Given the description of an element on the screen output the (x, y) to click on. 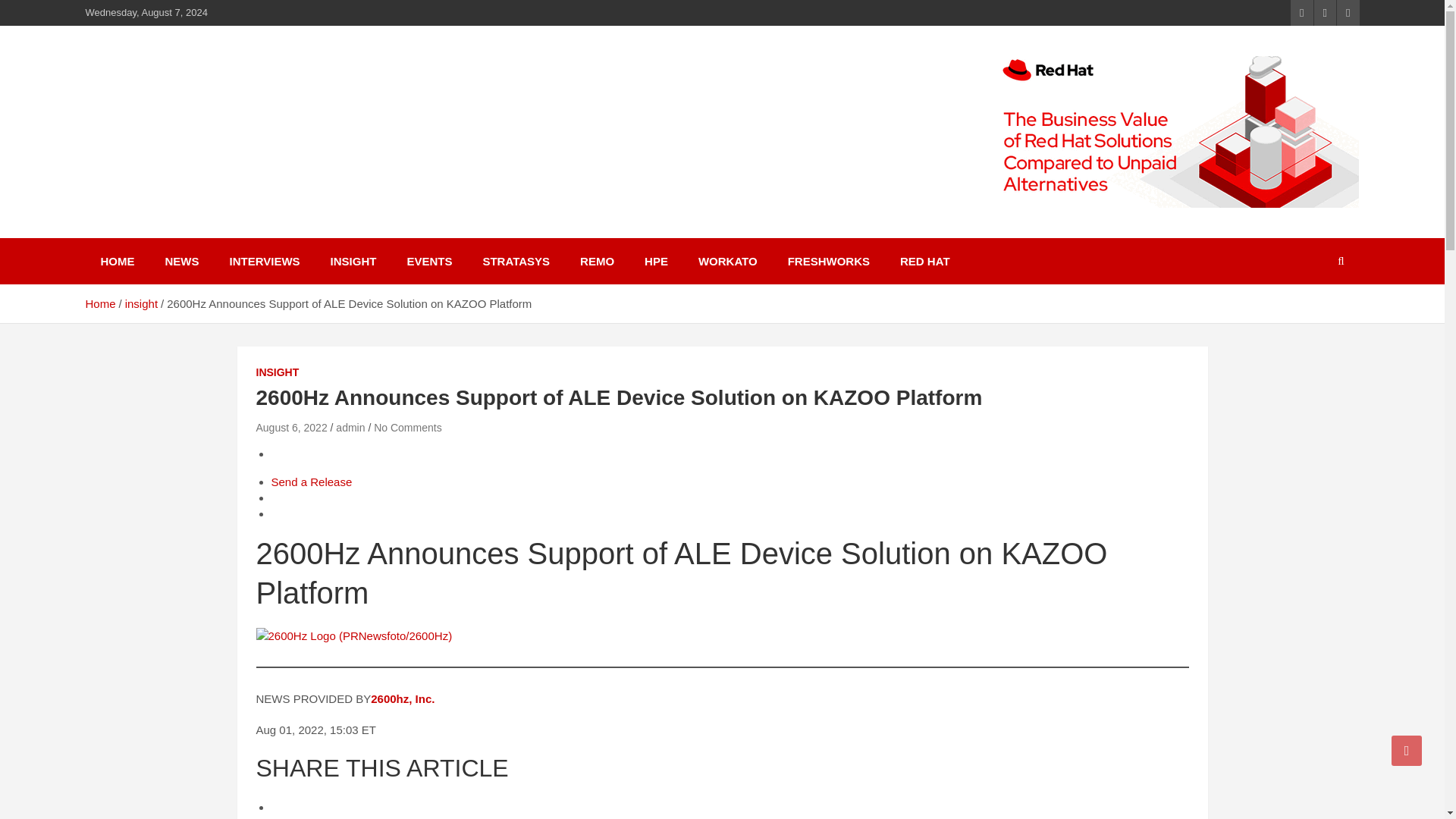
insight (141, 303)
2600hz, Inc.  (404, 698)
INTERVIEWS (264, 261)
HOME (116, 261)
Send a Release (311, 481)
NEWS (181, 261)
REMO (596, 261)
August 6, 2022 (291, 427)
Home (99, 303)
HPE (655, 261)
INSIGHT (353, 261)
No Comments (407, 427)
Go to Top (1406, 750)
RED HAT (925, 261)
INSIGHT (277, 372)
